Given the description of an element on the screen output the (x, y) to click on. 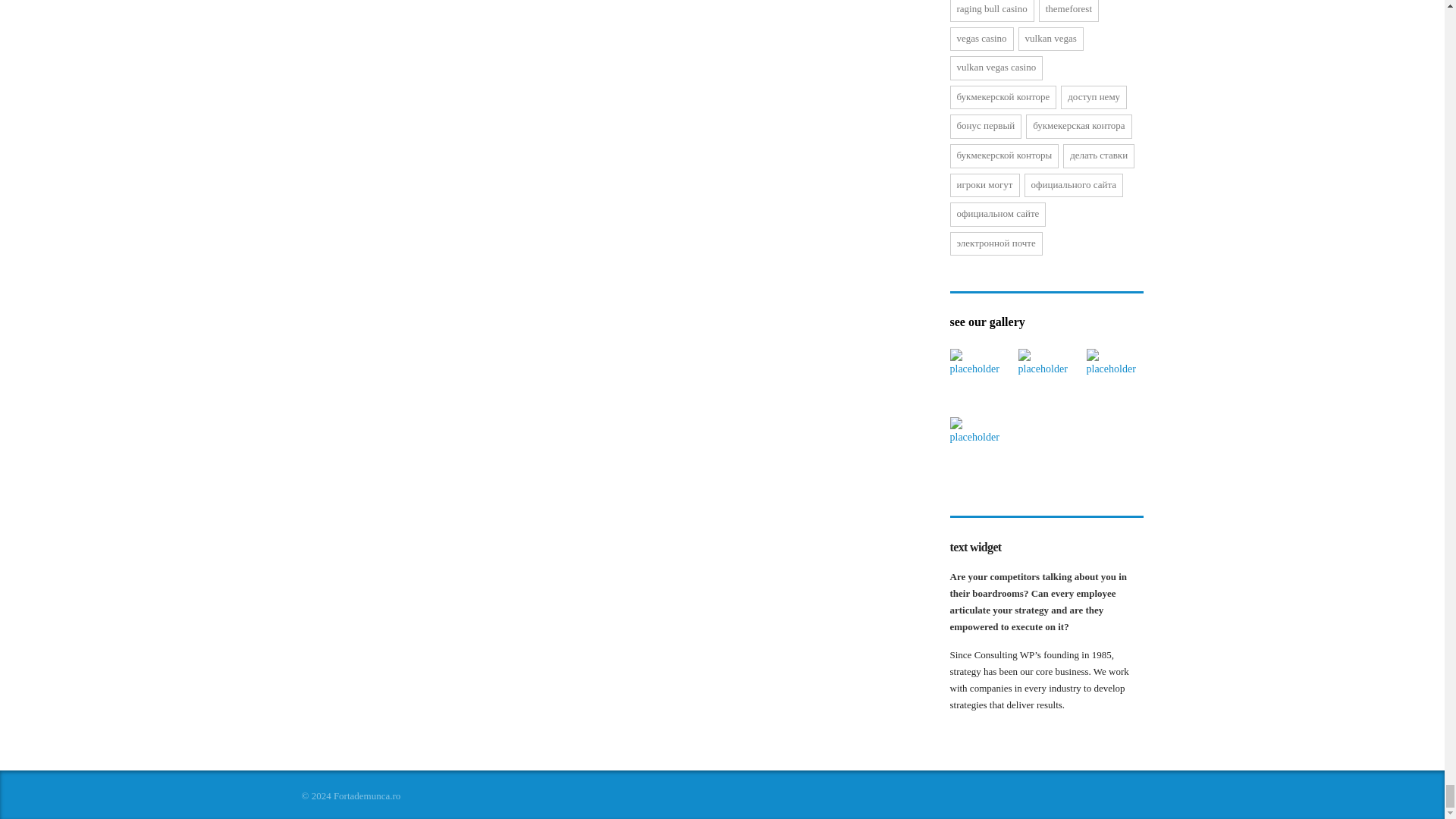
placeholder (1114, 376)
placeholder (1045, 376)
placeholder (977, 376)
placeholder (977, 445)
